Given the description of an element on the screen output the (x, y) to click on. 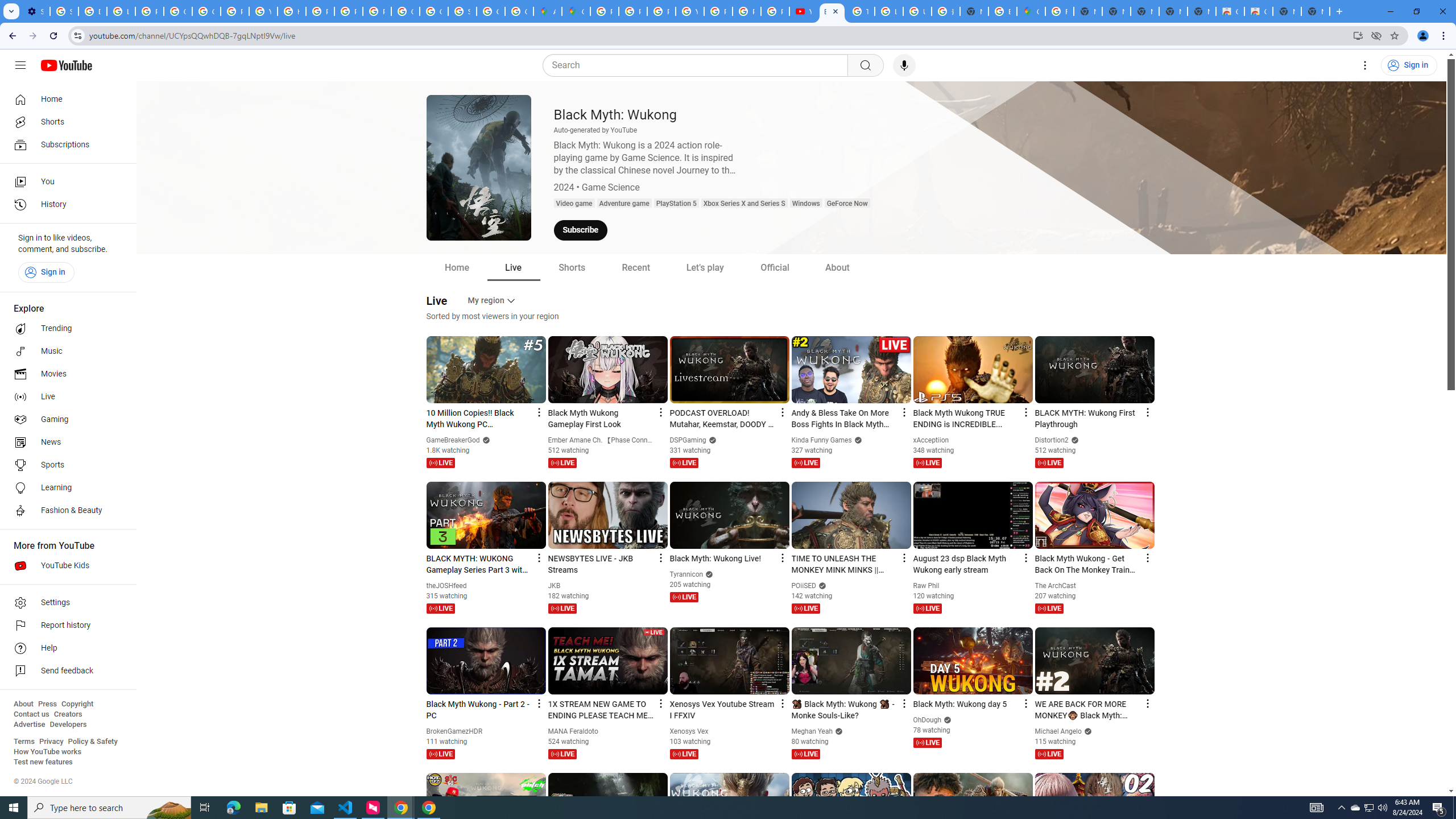
About (836, 266)
Shorts (64, 121)
Google Account Help (178, 11)
Google Maps (1030, 11)
Recent (635, 266)
Guide (20, 65)
Kinda Funny Games (821, 439)
Test new features (42, 761)
Black Myth: Wukong day 5 by OhDough 5,441 views (965, 704)
Tips & tricks for Chrome - Google Chrome Help (860, 11)
YouTube Kids (64, 565)
Distortion2 (1051, 439)
